Given the description of an element on the screen output the (x, y) to click on. 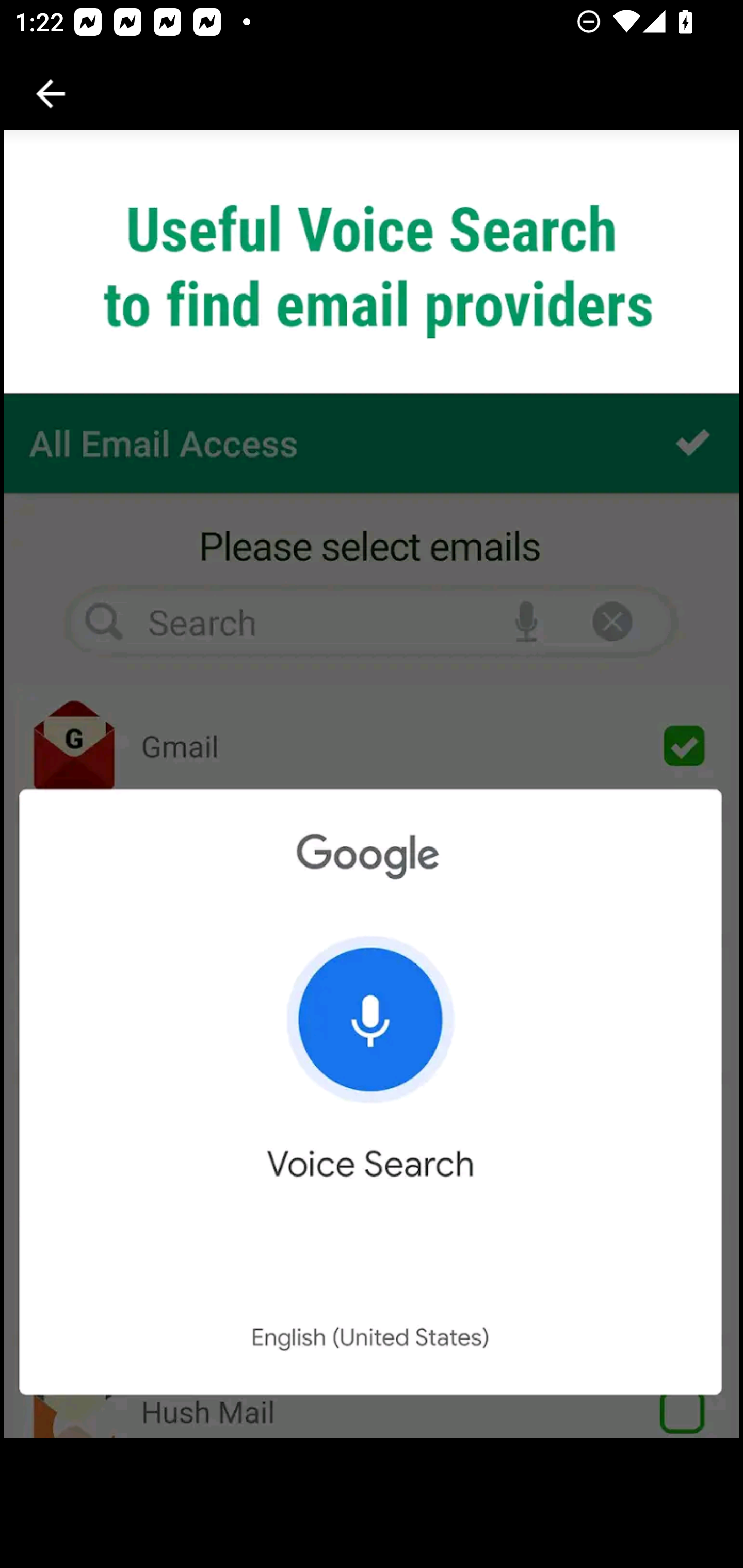
Back (50, 93)
